Given the description of an element on the screen output the (x, y) to click on. 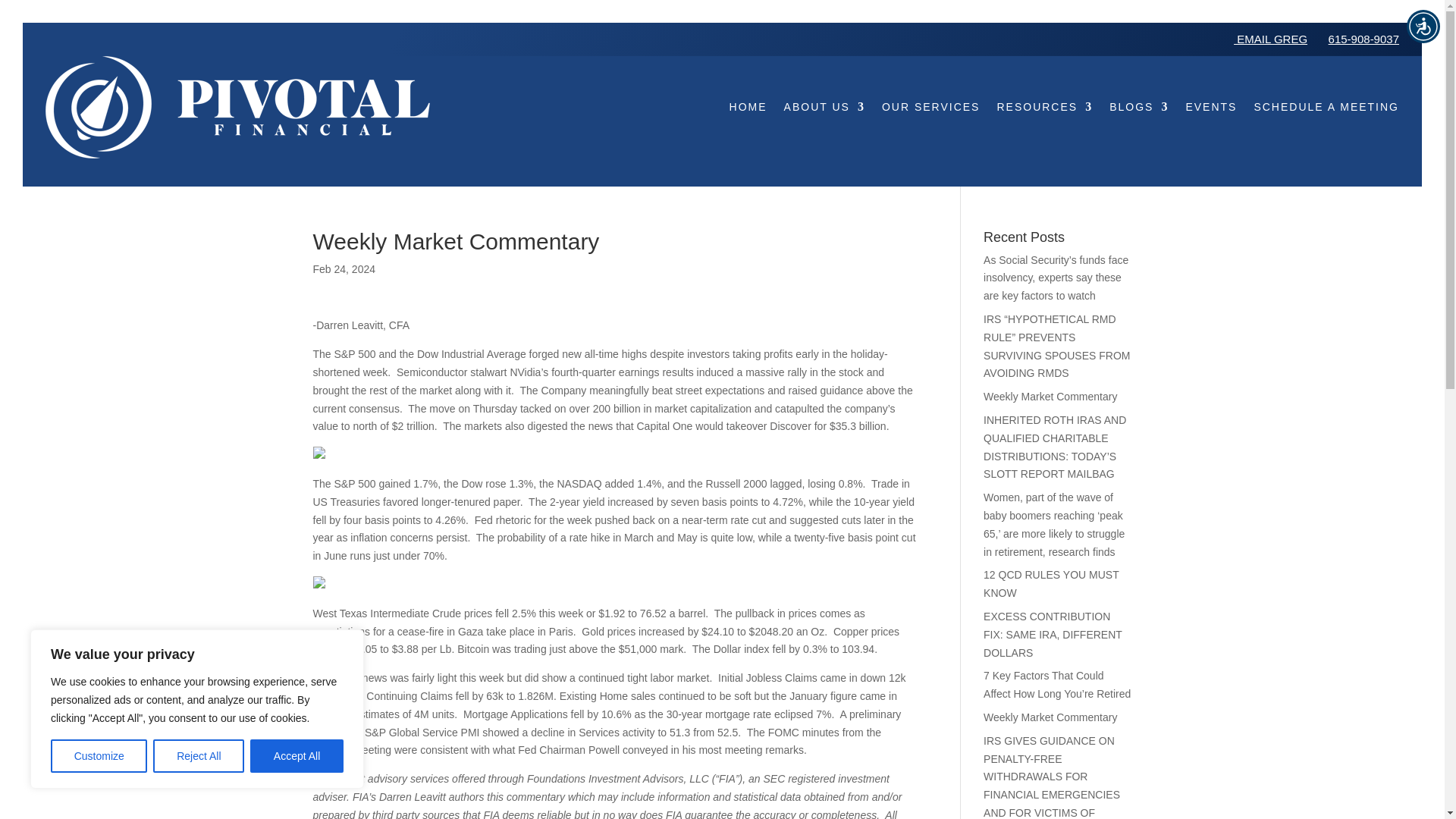
SCHEDULE A MEETING (1326, 107)
Reject All (198, 756)
615-908-9037 (1363, 38)
Accessibility Menu (1422, 26)
 EMAIL GREG (1270, 38)
Customize (98, 756)
Accept All (296, 756)
OUR SERVICES (930, 107)
RESOURCES (1044, 107)
